Given the description of an element on the screen output the (x, y) to click on. 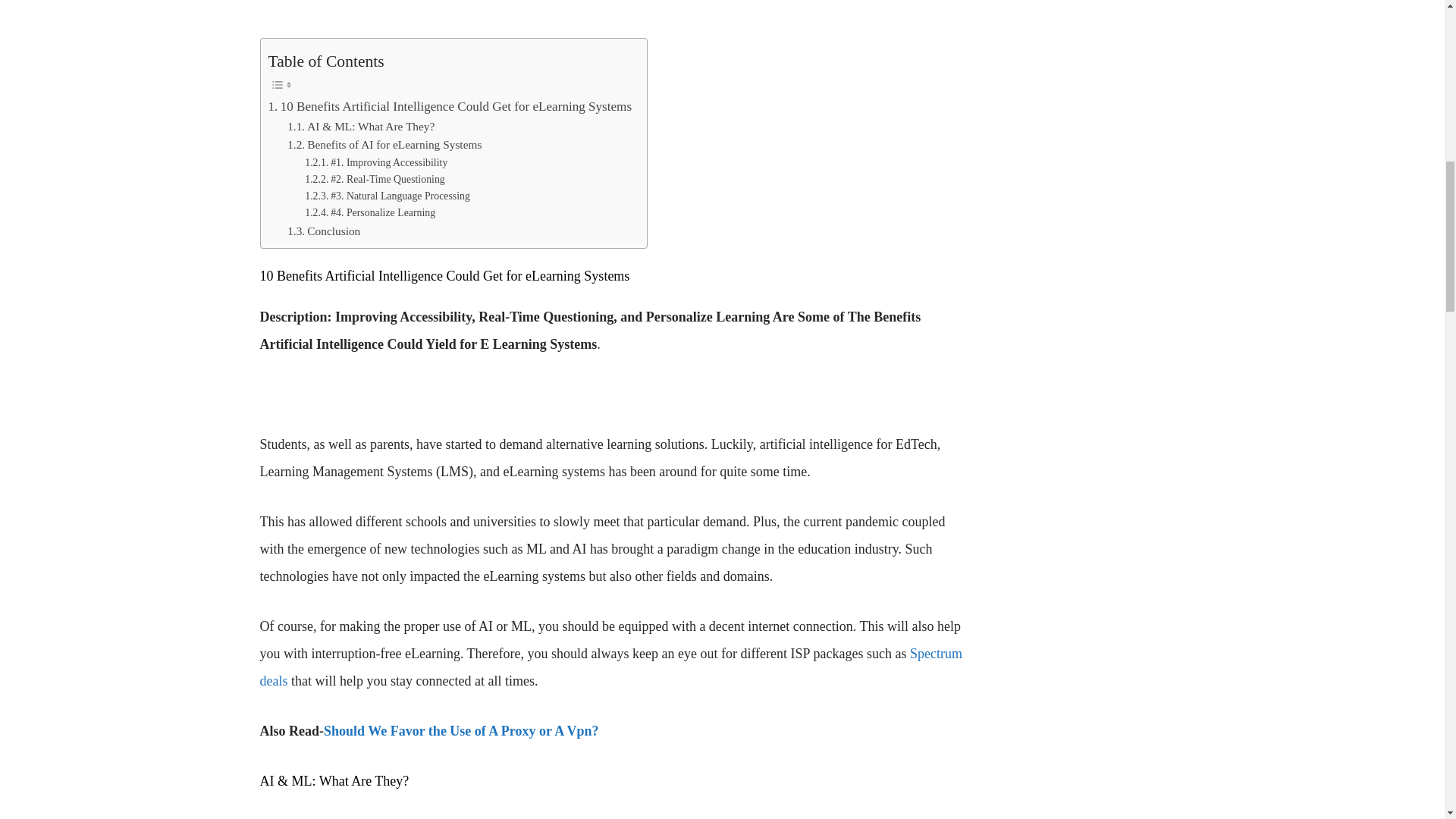
Benefits of AI for eLearning Systems (383, 144)
Conclusion (322, 230)
Should We Favor the Use of A Proxy or A Vpn? (460, 730)
Spectrum deals (609, 667)
Benefits of AI for eLearning Systems (383, 144)
Conclusion (322, 230)
